Given the description of an element on the screen output the (x, y) to click on. 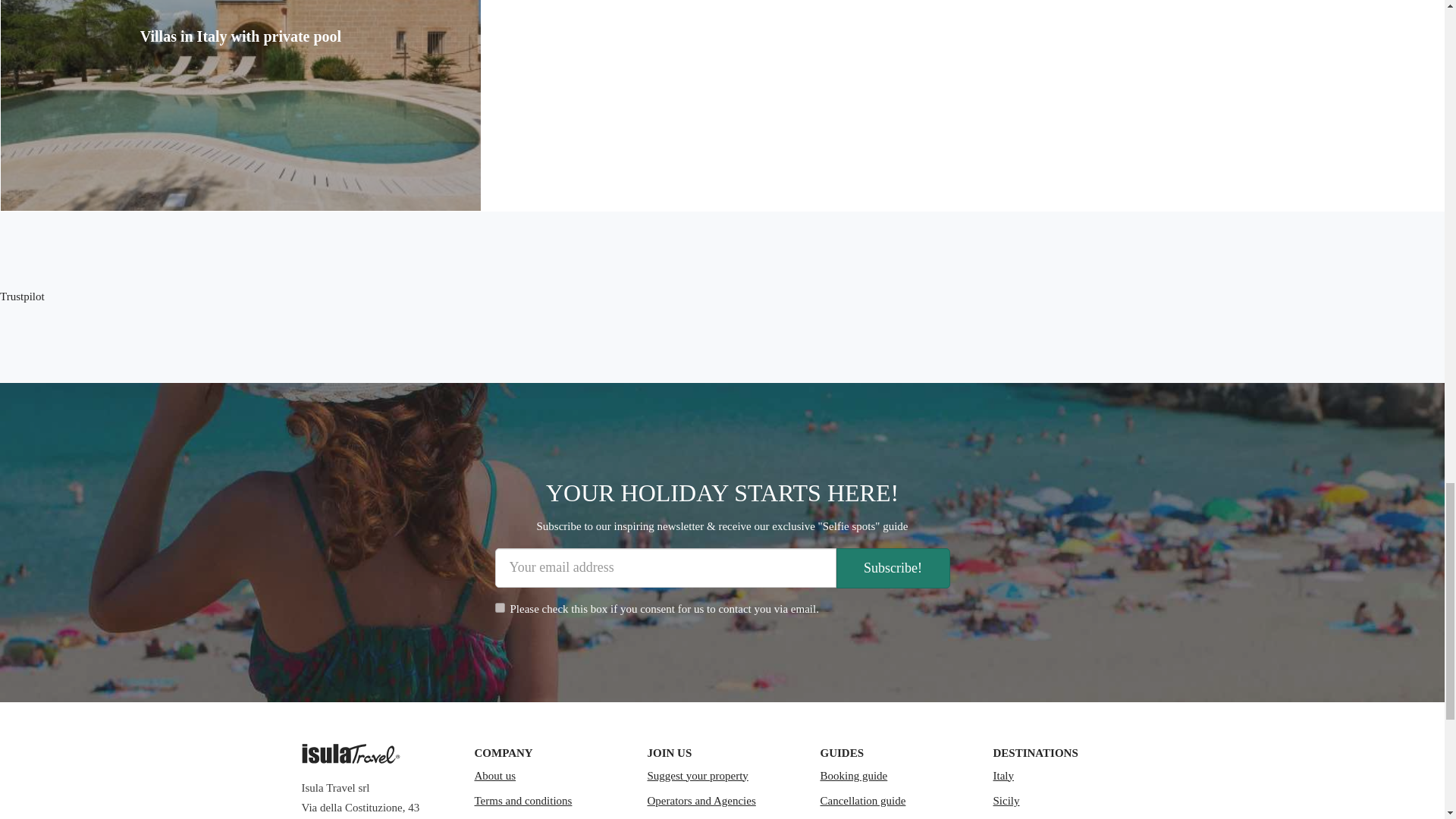
Home (350, 753)
1 (499, 607)
Subscribe! (892, 567)
Trustpilot (22, 296)
Terms and conditions (549, 801)
Suggest your property (722, 776)
About us (549, 776)
Privacy and Cookie Policy (549, 816)
